Given the description of an element on the screen output the (x, y) to click on. 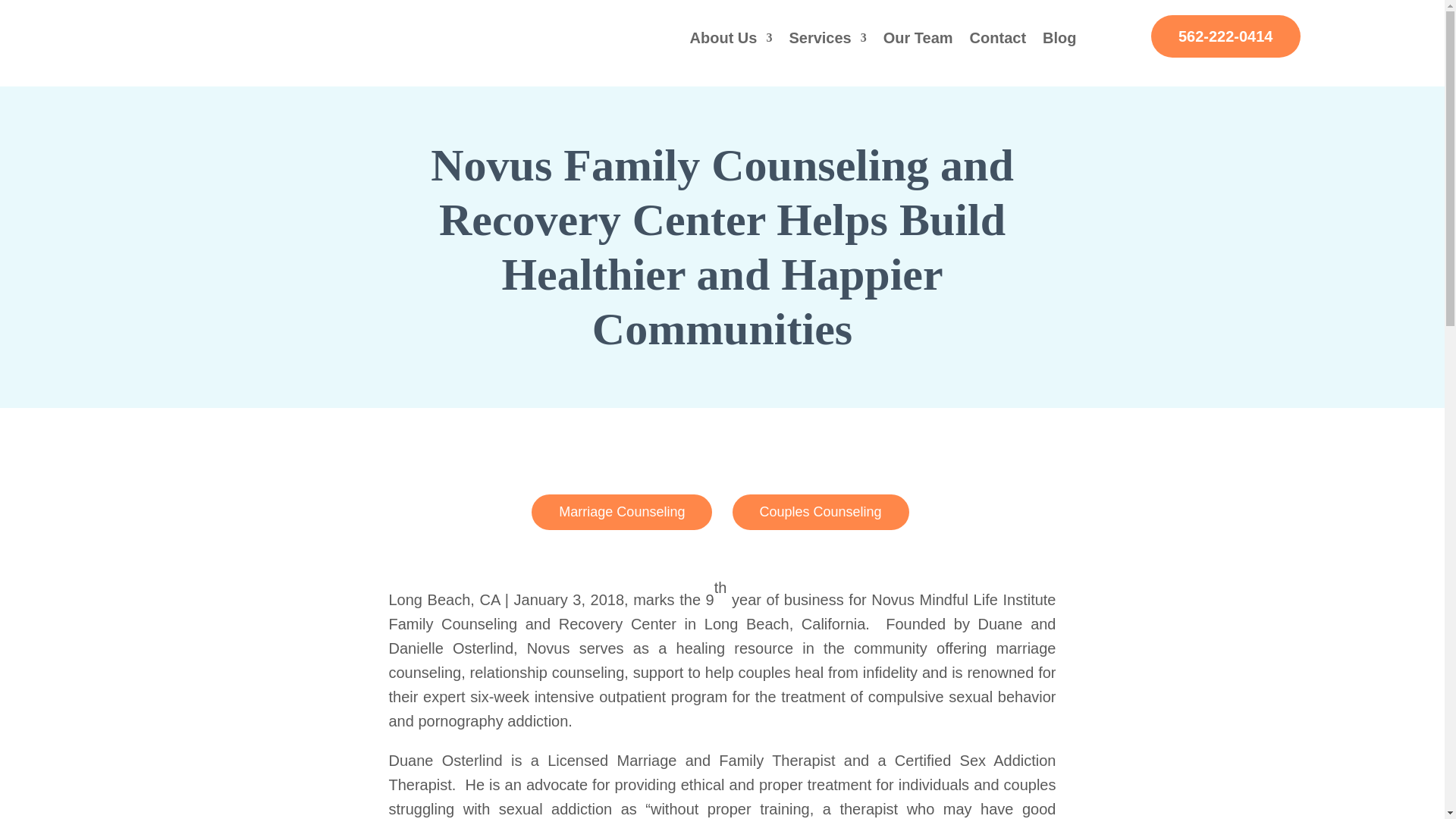
Marriage Counseling (621, 511)
nov-ic-v2 (274, 40)
Couples Counseling (820, 511)
Blog (1058, 40)
Our Team (918, 40)
About Us (731, 40)
Contact (997, 40)
Services (827, 40)
562-222-0414 (1225, 36)
